Given the description of an element on the screen output the (x, y) to click on. 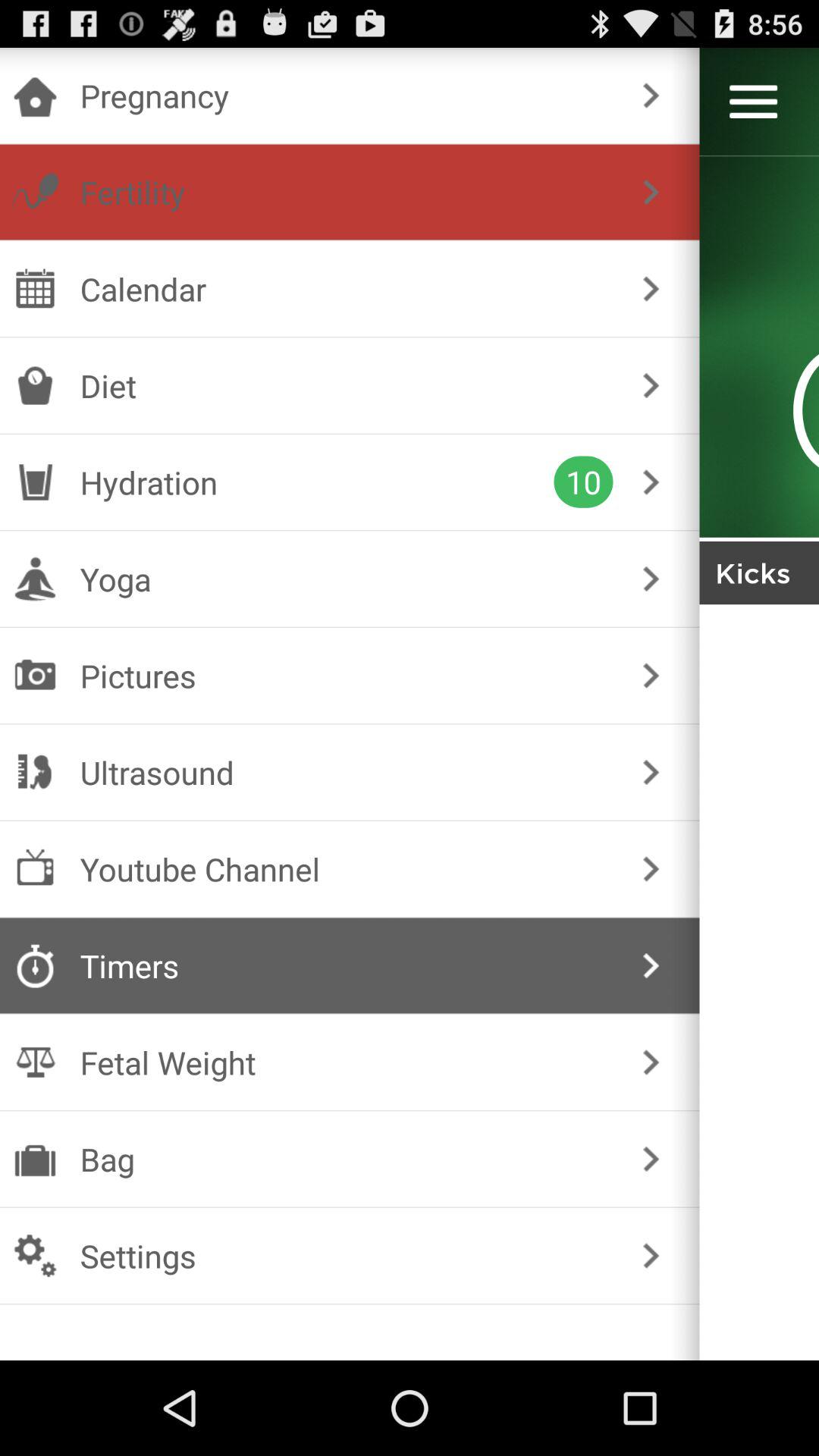
click the fertility icon (346, 191)
